Given the description of an element on the screen output the (x, y) to click on. 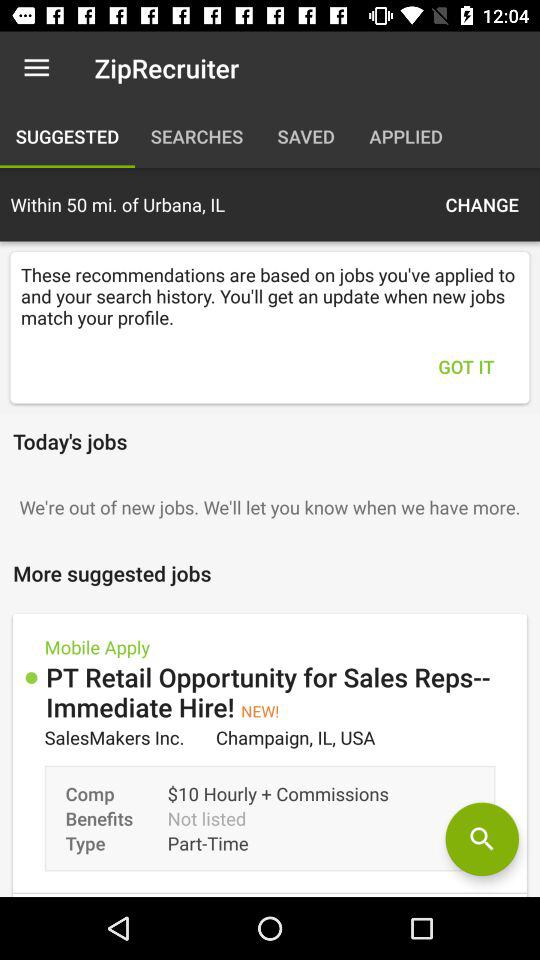
click the got it (466, 366)
